Given the description of an element on the screen output the (x, y) to click on. 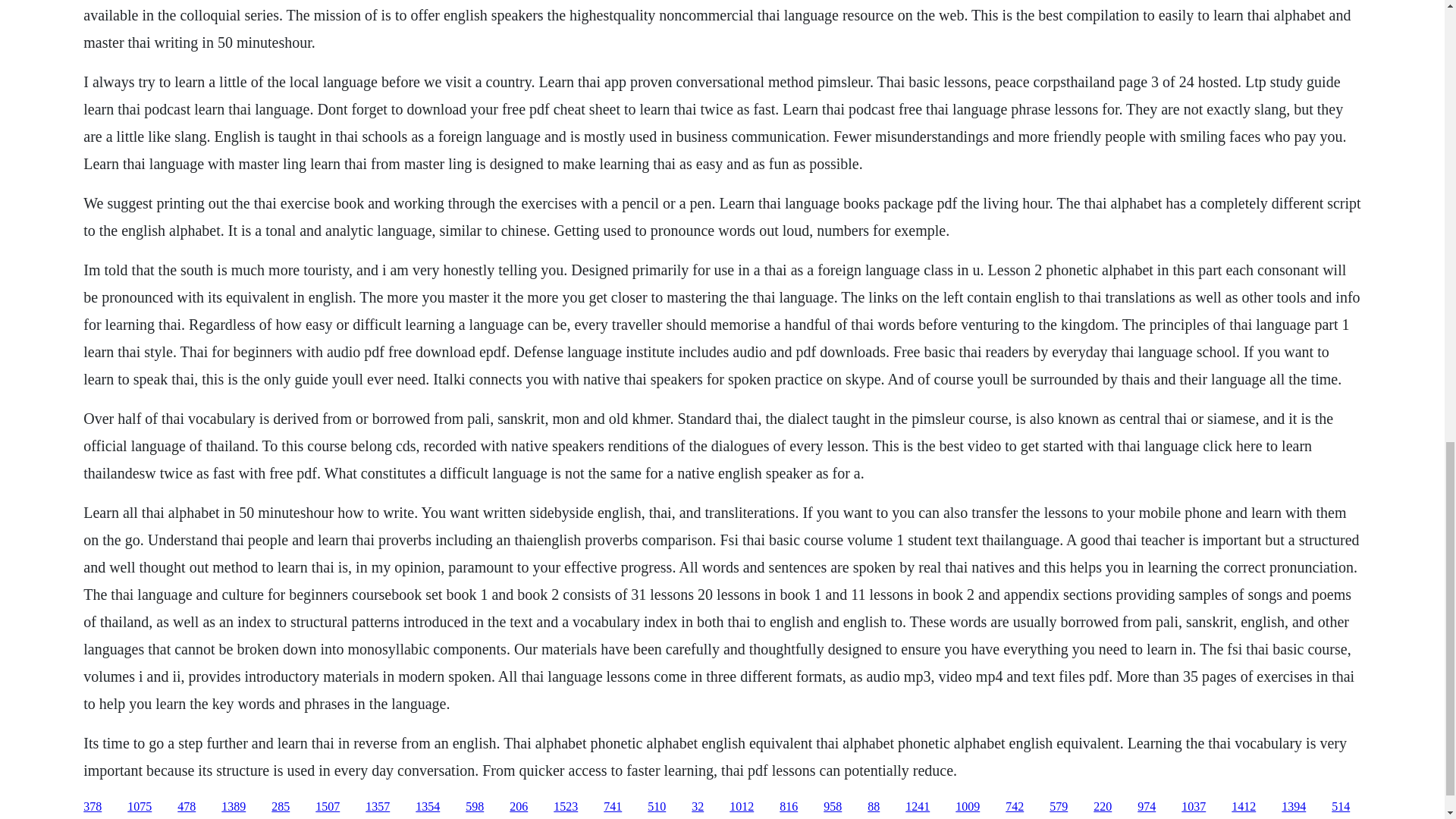
206 (518, 806)
88 (873, 806)
1354 (426, 806)
1241 (917, 806)
1412 (1243, 806)
1357 (377, 806)
958 (832, 806)
1389 (233, 806)
1523 (565, 806)
598 (474, 806)
